Given the description of an element on the screen output the (x, y) to click on. 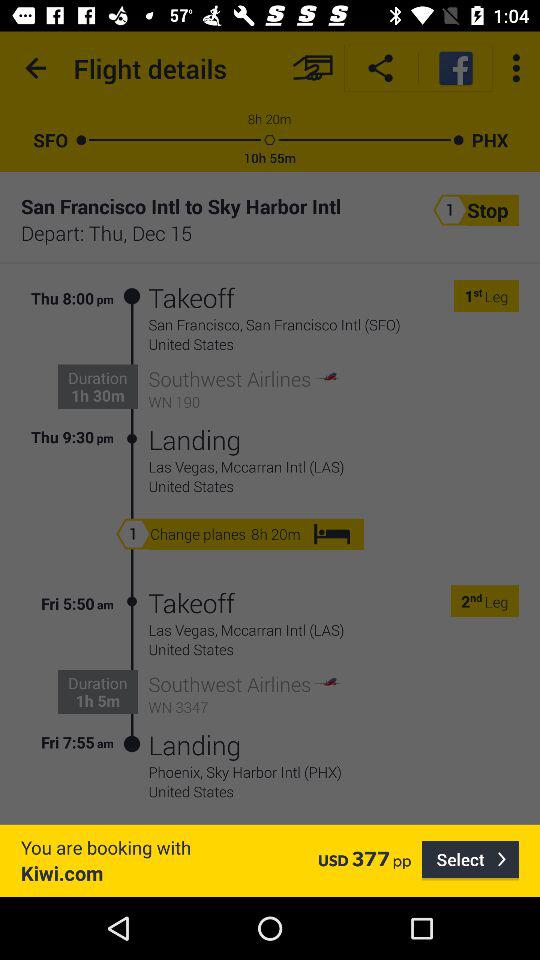
launch item next to takeoff icon (131, 368)
